Given the description of an element on the screen output the (x, y) to click on. 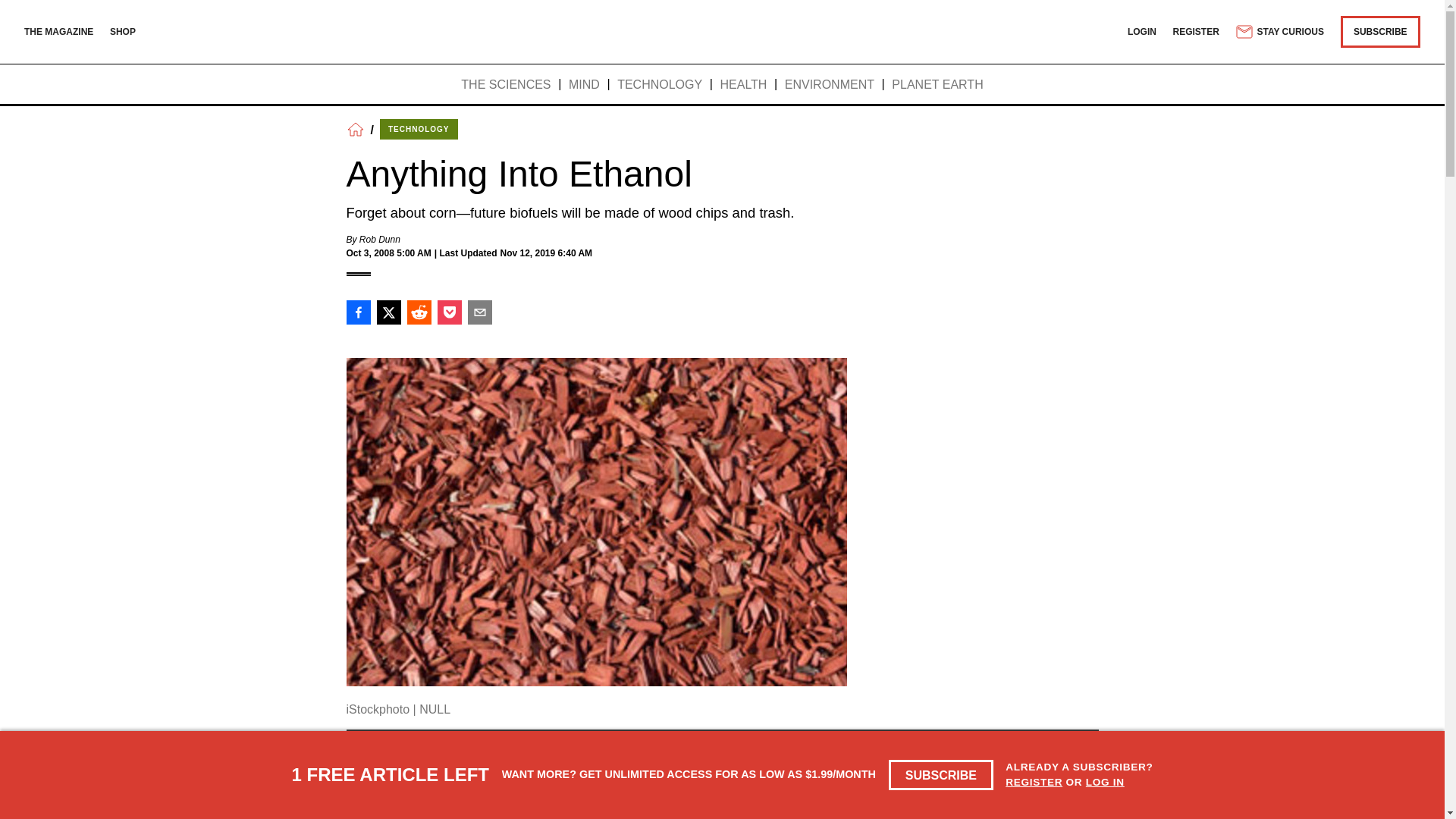
PLANET EARTH (936, 84)
REGISTER (1034, 781)
STAY CURIOUS (1278, 31)
LOGIN (1141, 31)
SIGN UP (1063, 768)
SUBSCRIBE (941, 775)
ENVIRONMENT (829, 84)
THE MAGAZINE (58, 31)
SUBSCRIBE (1380, 31)
HEALTH (743, 84)
THE SCIENCES (505, 84)
MIND (584, 84)
SHOP (122, 31)
TECHNOLOGY (659, 84)
TECHNOLOGY (419, 128)
